Given the description of an element on the screen output the (x, y) to click on. 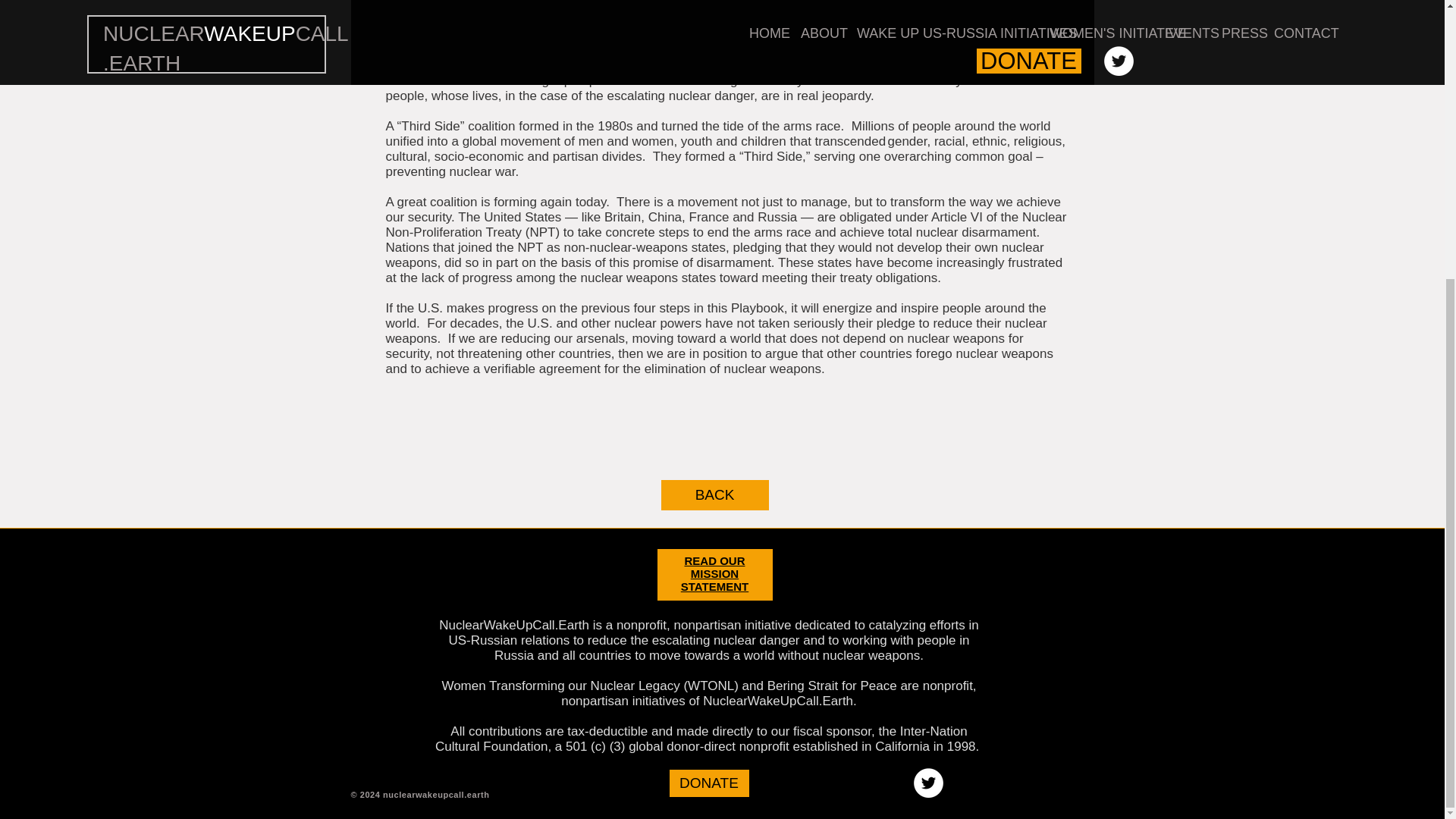
DONATE (708, 782)
NUCLEARWAKEUP (202, 748)
READ OUR MISSION STATEMENT (714, 573)
BACK (714, 494)
CALL.EARTH (245, 760)
